Given the description of an element on the screen output the (x, y) to click on. 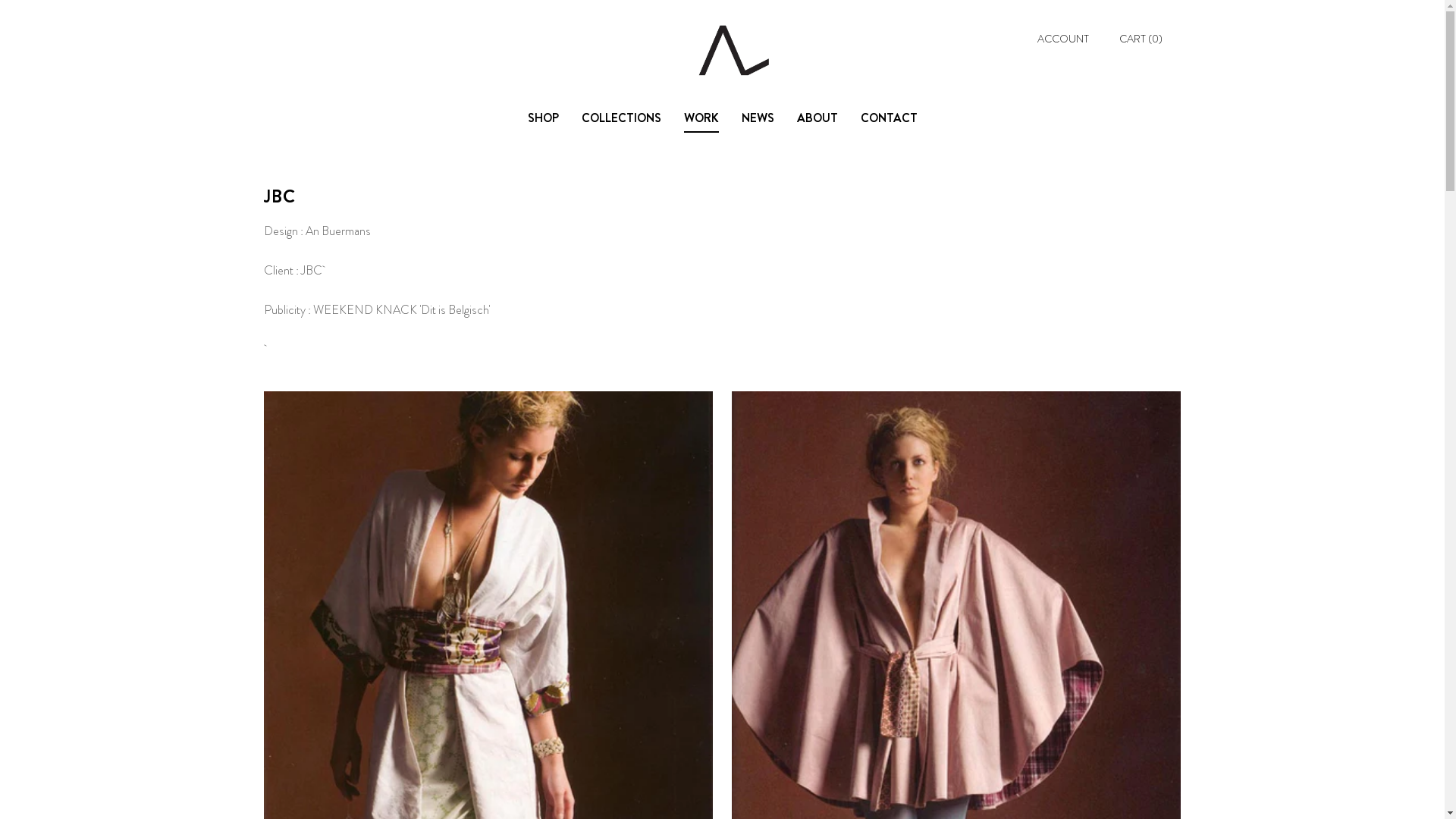
CONTACT Element type: text (887, 118)
ACCOUNT Element type: text (1062, 38)
WORK Element type: text (701, 118)
ABOUT Element type: text (816, 118)
CART (0) Element type: text (1140, 38)
SHOP
  Element type: text (542, 118)
NEWS Element type: text (757, 118)
COLLECTIONS Element type: text (620, 118)
